Given the description of an element on the screen output the (x, y) to click on. 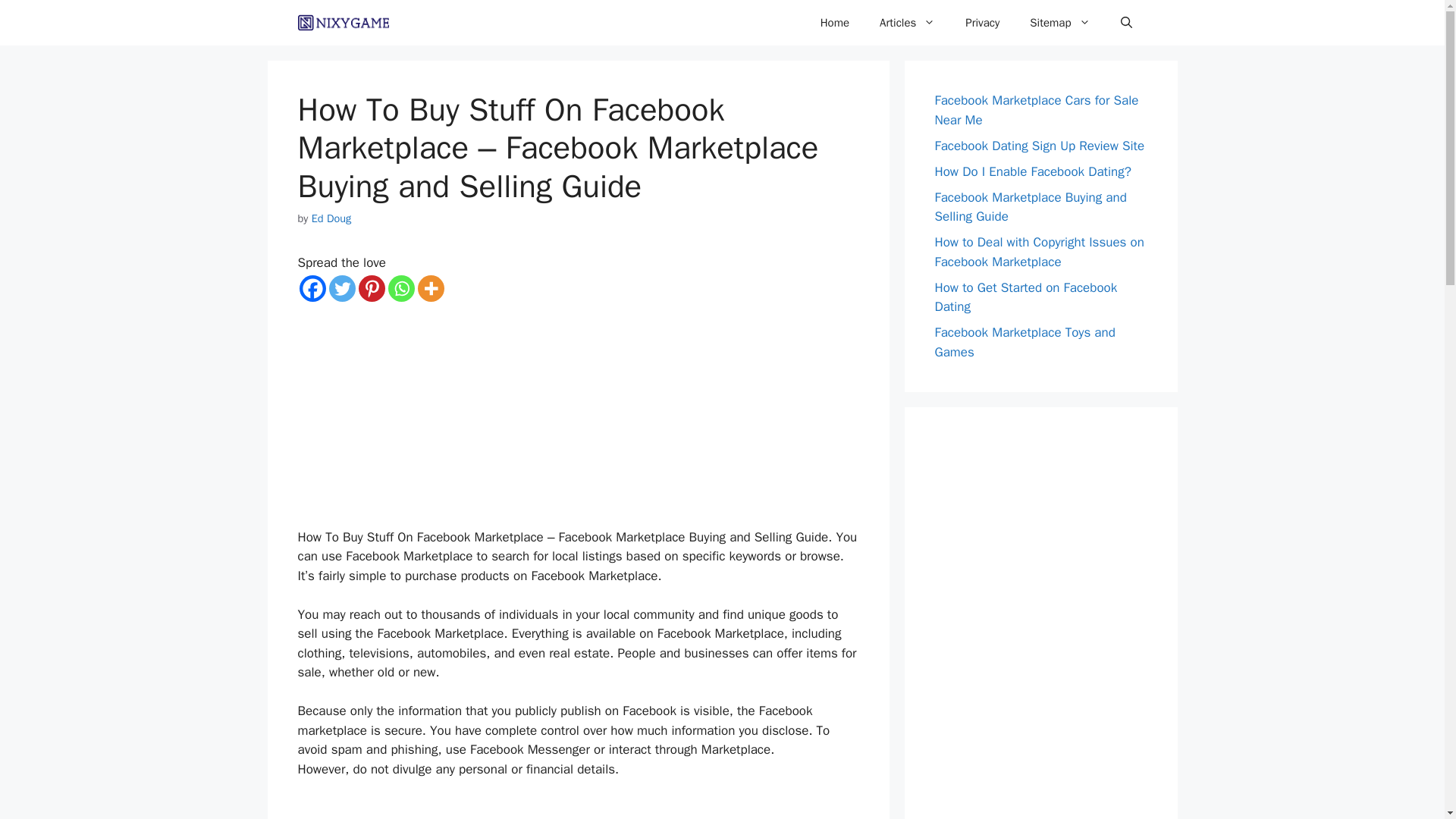
Ed Doug (331, 218)
Sitemap (1059, 22)
Whatsapp (401, 288)
Privacy (982, 22)
More (430, 288)
View all posts by Ed Doug (331, 218)
Advertisement (578, 808)
Articles (907, 22)
Nixygame (342, 22)
Facebook (311, 288)
Advertisement (578, 415)
Twitter (342, 288)
Pinterest (371, 288)
Home (834, 22)
